Given the description of an element on the screen output the (x, y) to click on. 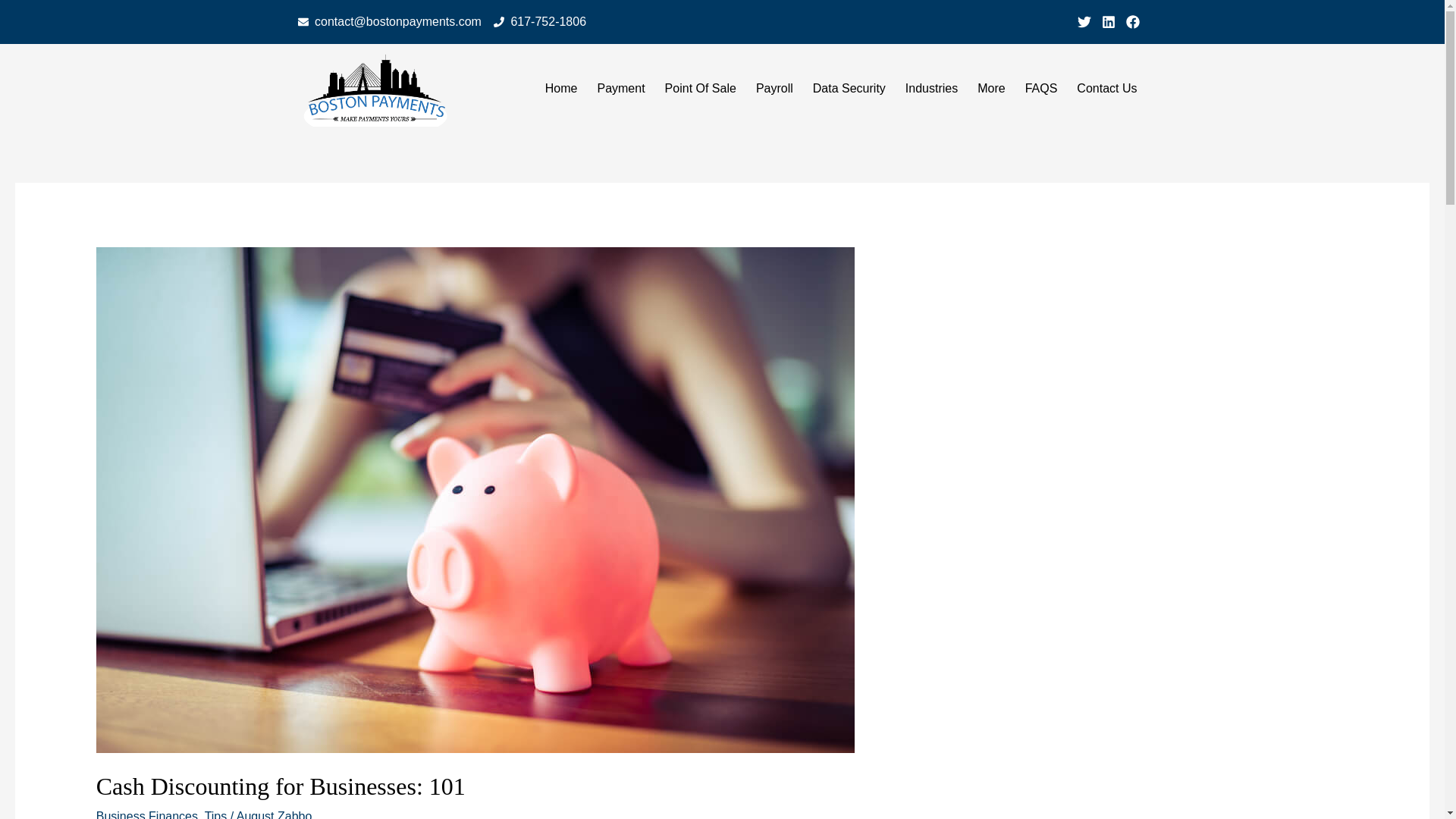
View all posts by August Zabbo (274, 814)
Home (561, 88)
Twitter (1083, 21)
Data Security (849, 88)
Payment (619, 88)
Industries (931, 88)
Payroll (774, 88)
Facebook (1131, 21)
617-752-1806 (539, 21)
Linkedin (1107, 21)
